Given the description of an element on the screen output the (x, y) to click on. 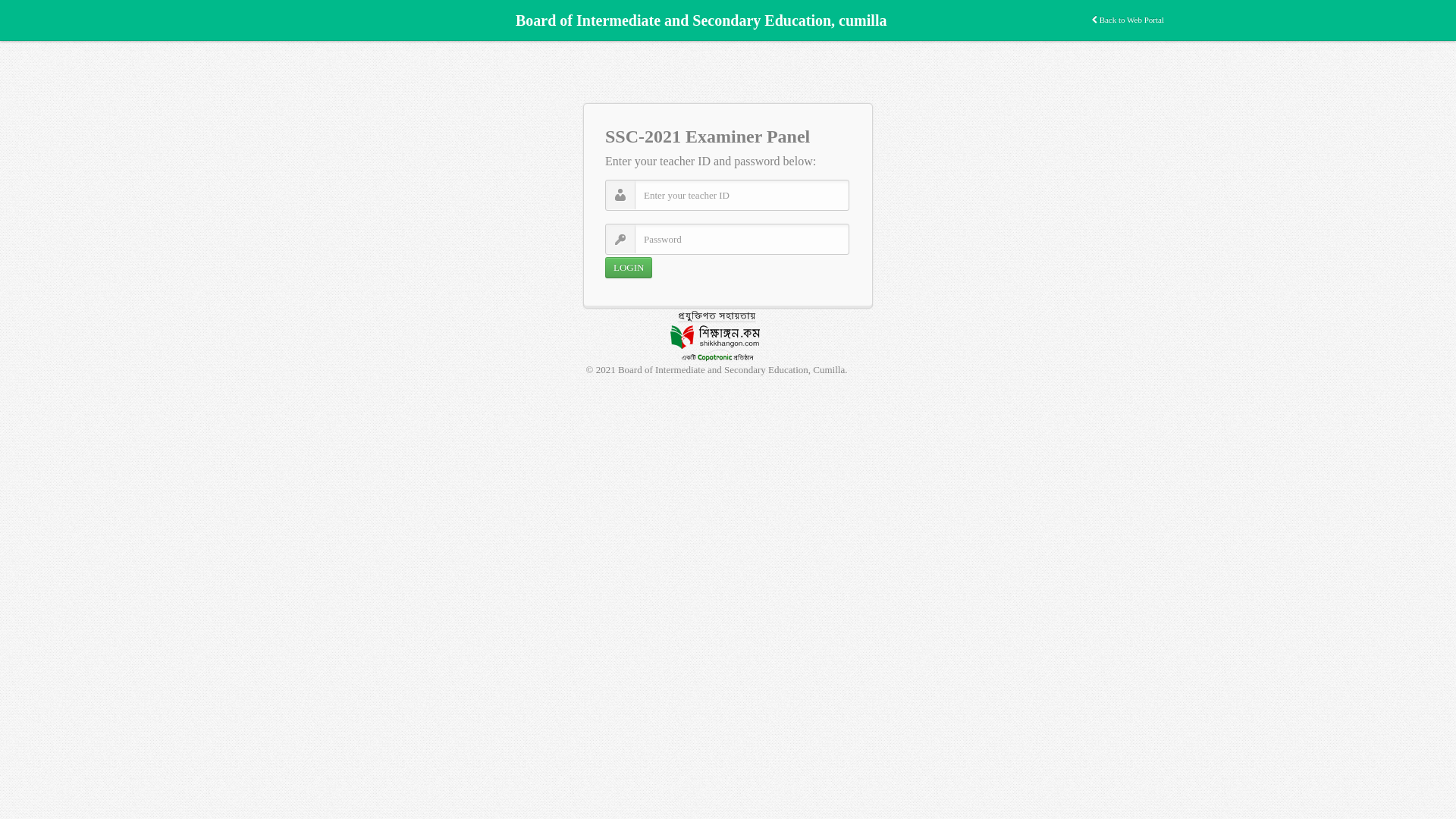
LOGIN Element type: text (628, 267)
Back to Web Portal Element type: text (1127, 20)
